Given the description of an element on the screen output the (x, y) to click on. 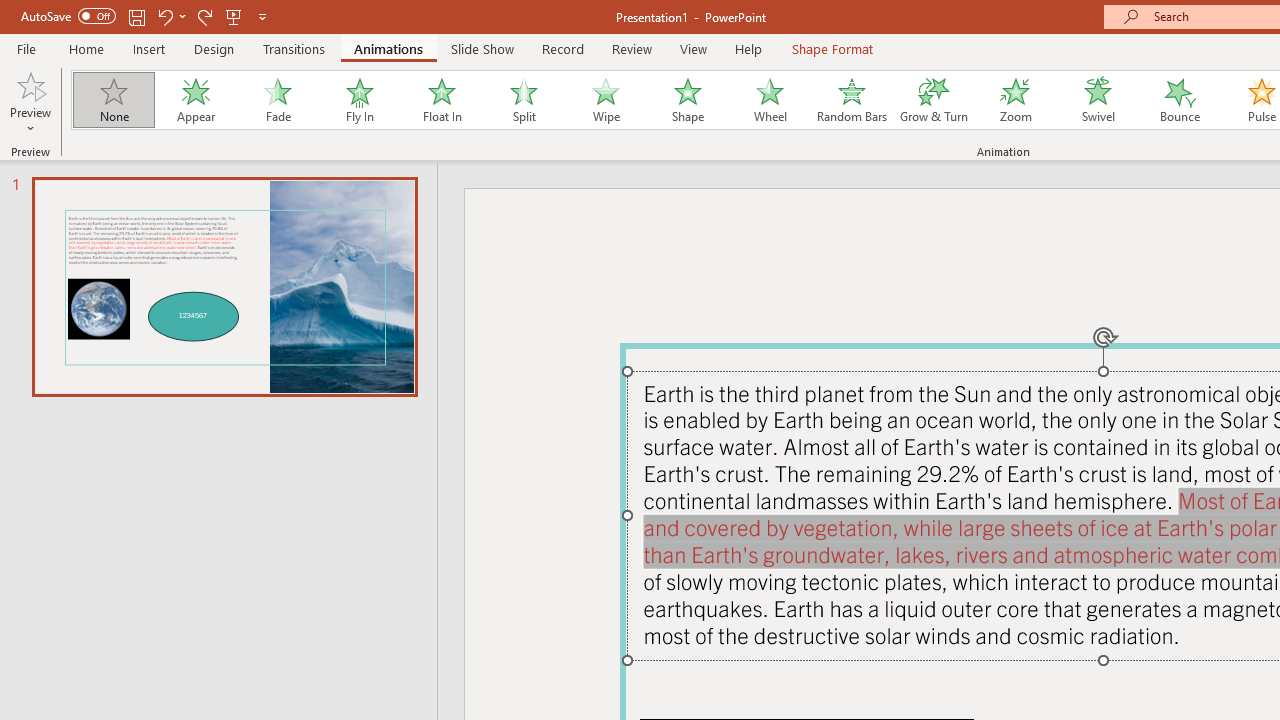
Shape (687, 100)
Fade (277, 100)
Animations (388, 48)
AutoSave (68, 16)
File Tab (26, 48)
Fly In (359, 100)
